Given the description of an element on the screen output the (x, y) to click on. 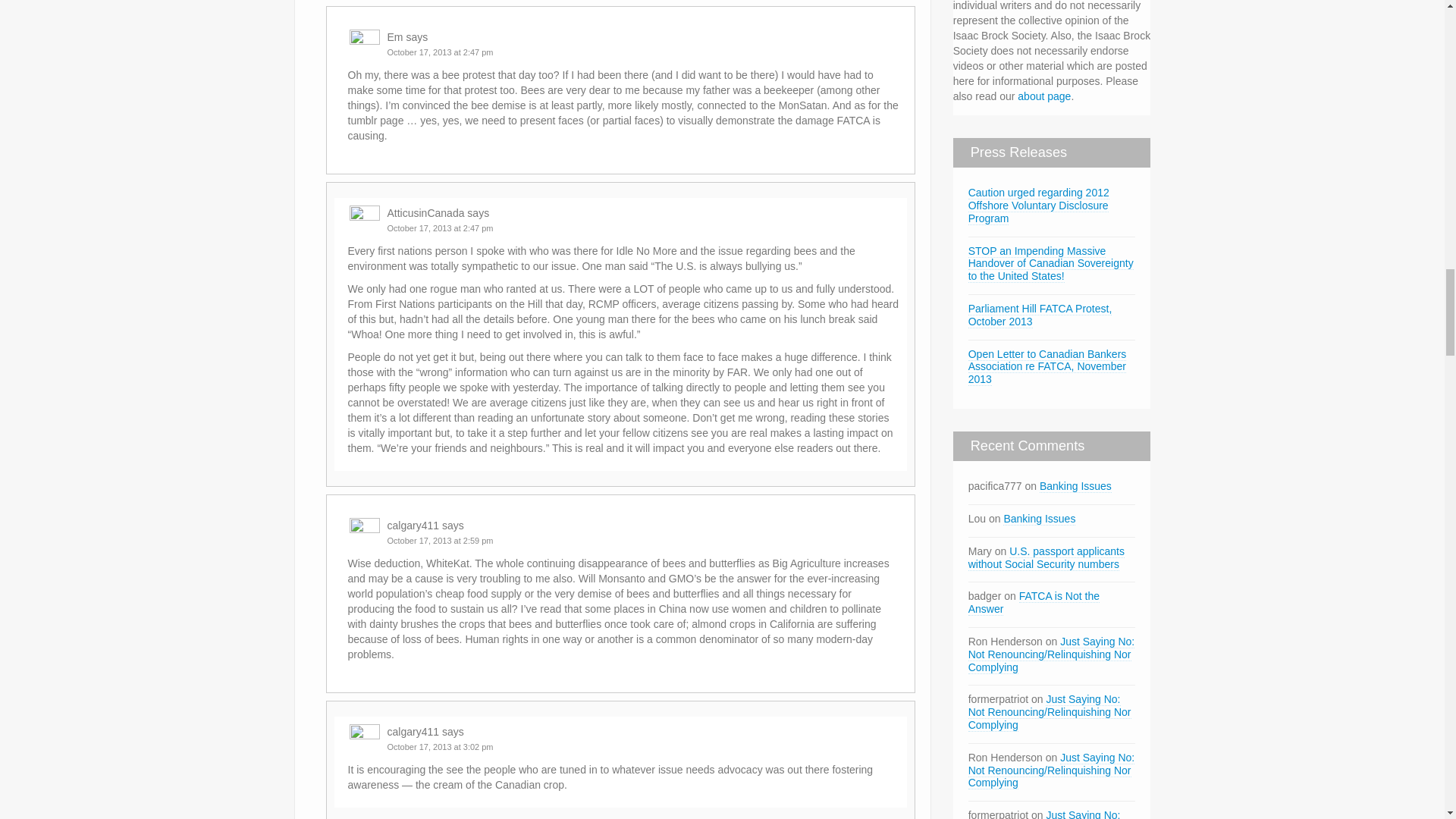
October 17, 2013 at 2:47 pm (440, 51)
October 17, 2013 at 2:59 pm (440, 540)
October 17, 2013 at 3:02 pm (440, 746)
October 17, 2013 at 2:47 pm (440, 227)
